Given the description of an element on the screen output the (x, y) to click on. 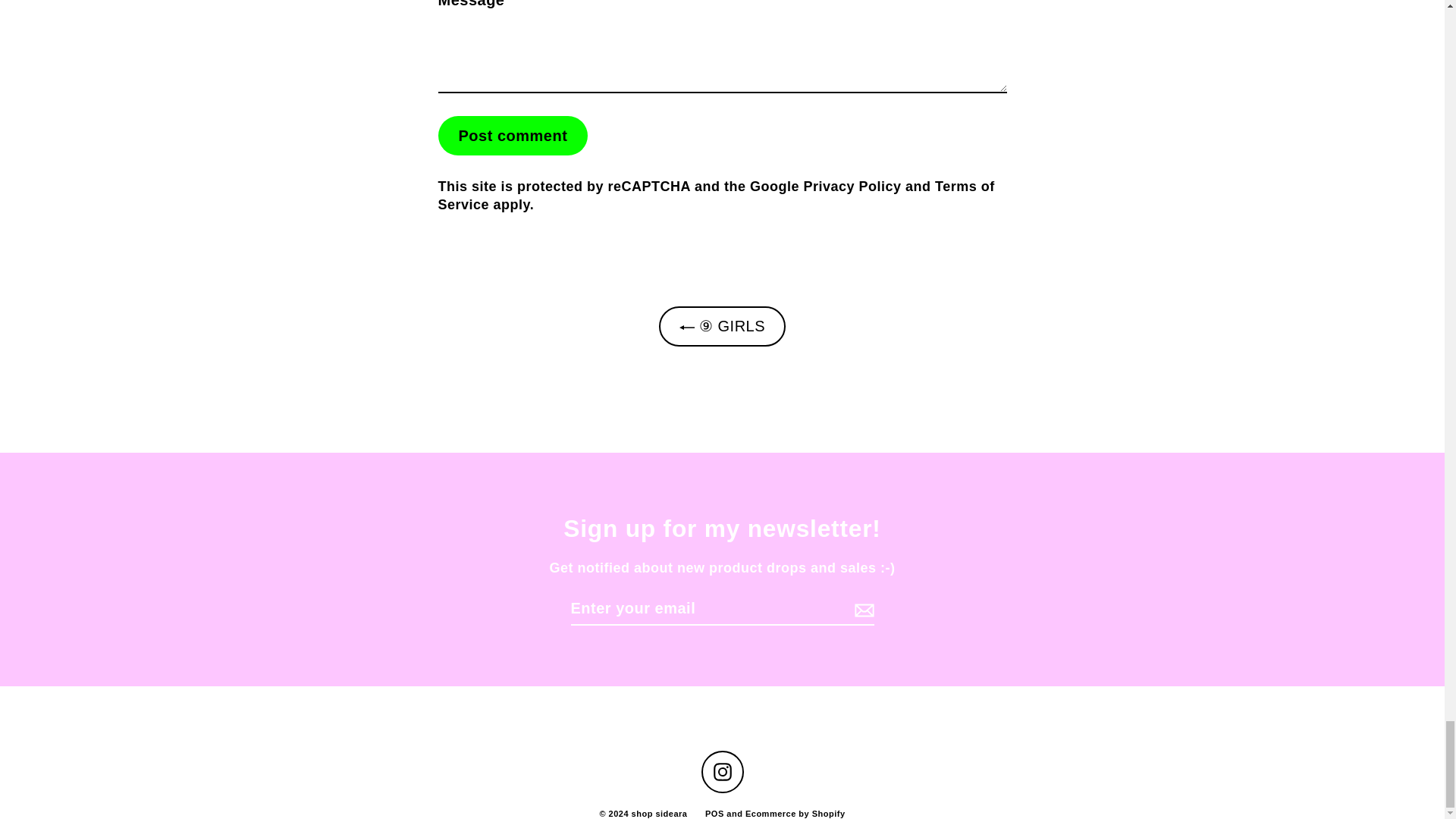
shop sideara on Instagram (721, 772)
Post comment (513, 135)
